Given the description of an element on the screen output the (x, y) to click on. 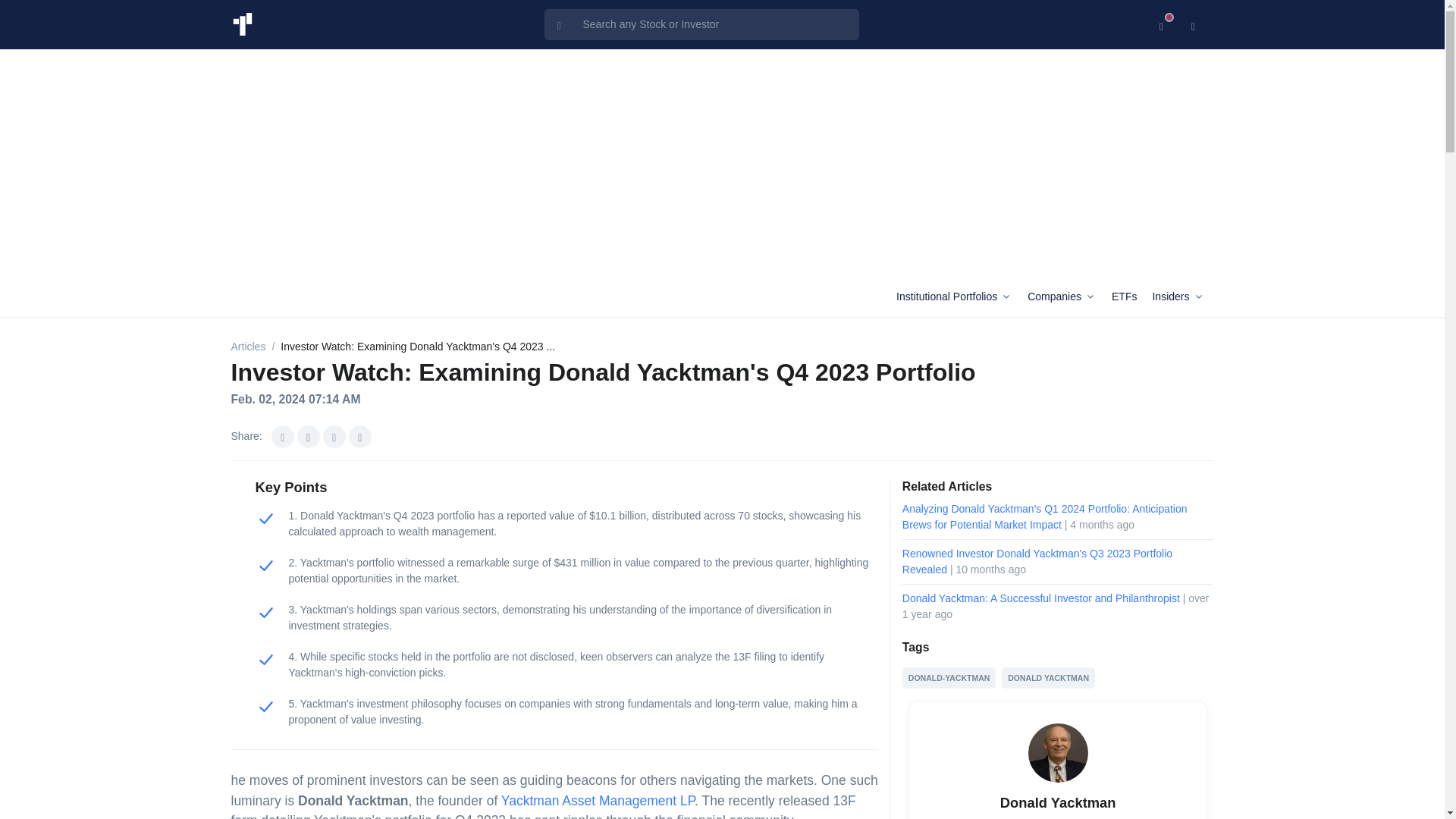
Companies (1066, 296)
TickerTracker.io (241, 24)
Institutional Portfolios (959, 296)
Donald Yacktman (1057, 752)
